Given the description of an element on the screen output the (x, y) to click on. 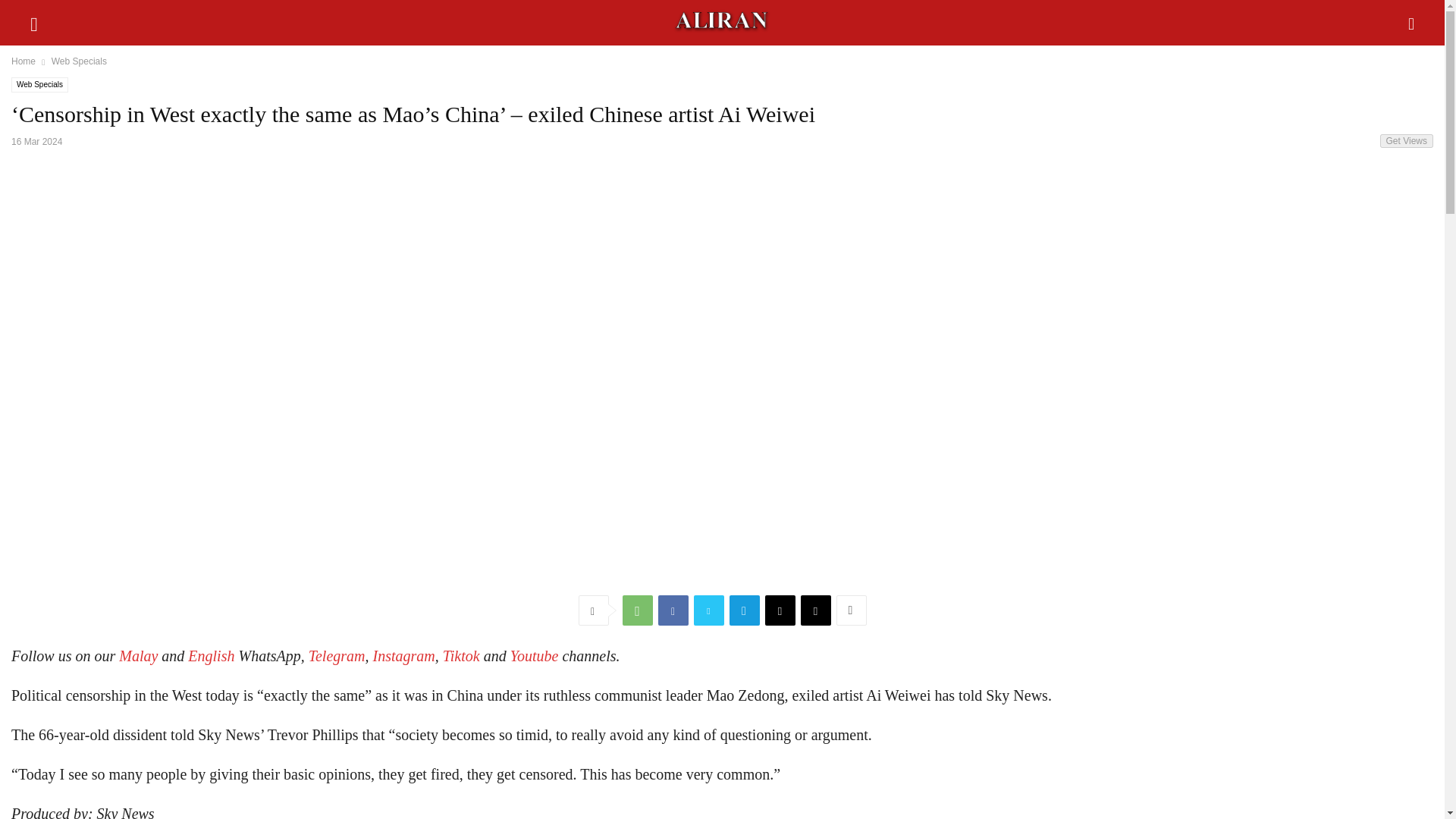
WhatsApp (636, 610)
Telegram (336, 655)
Home (22, 61)
Get Views (1406, 141)
View all posts in Web Specials (78, 61)
Web Specials (39, 84)
Malay (138, 655)
English (210, 655)
Search (45, 20)
Web Specials (78, 61)
